Given the description of an element on the screen output the (x, y) to click on. 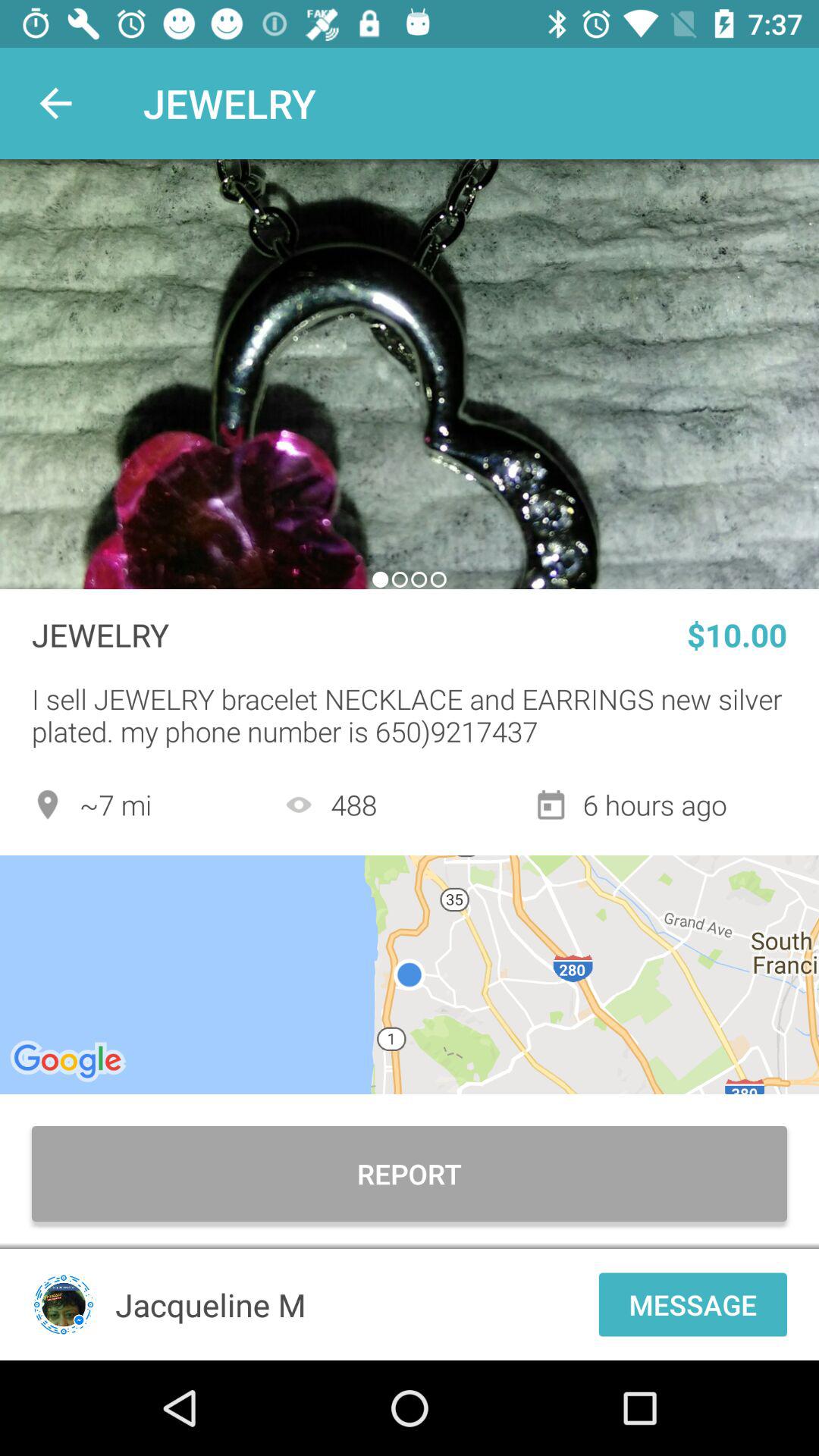
turn off the item to the right of the jacqueline m item (692, 1304)
